Given the description of an element on the screen output the (x, y) to click on. 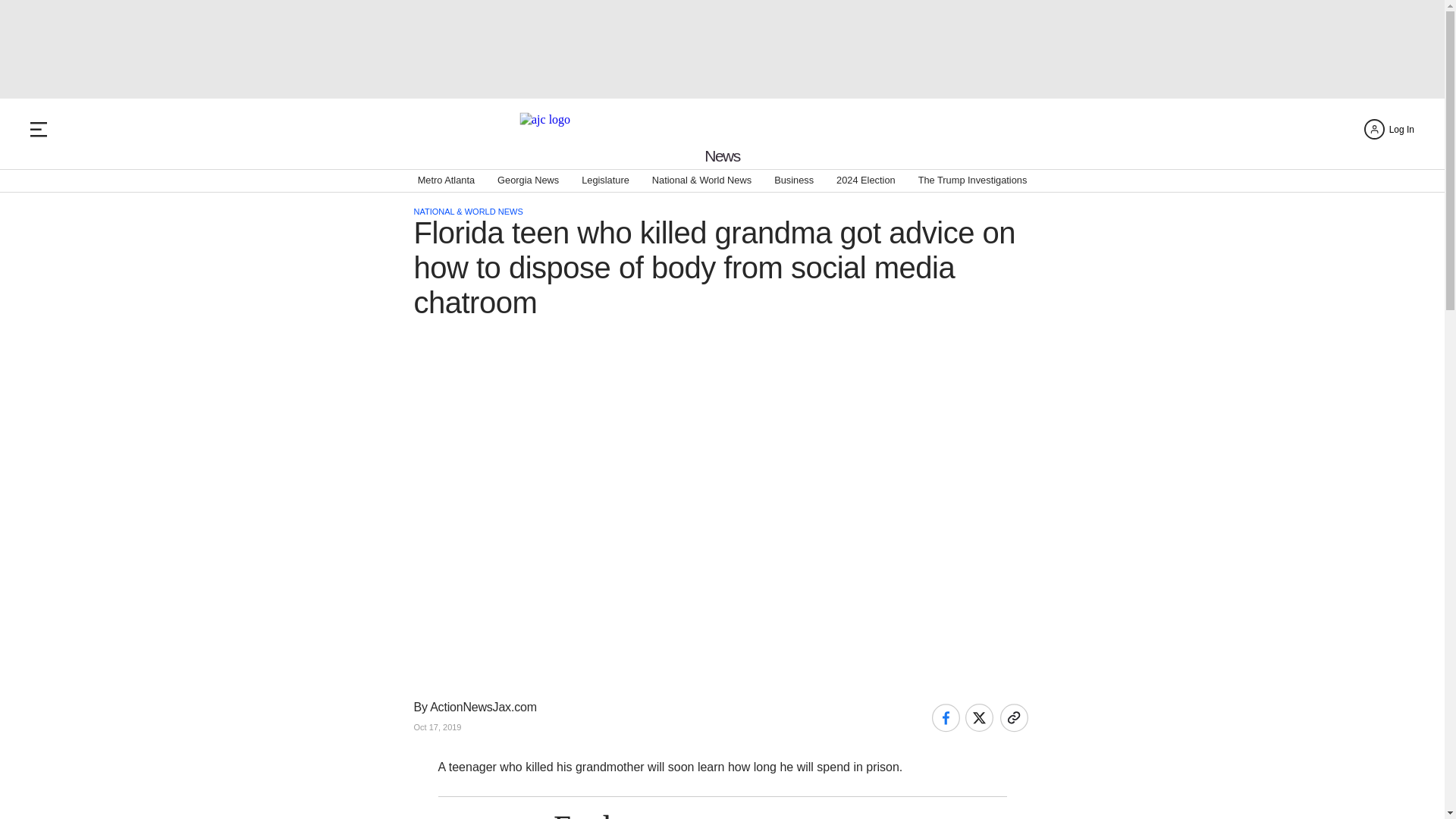
Legislature (604, 180)
The Trump Investigations (972, 180)
Georgia News (528, 180)
2024 Election (865, 180)
Business (793, 180)
News (721, 155)
Metro Atlanta (445, 180)
